Given the description of an element on the screen output the (x, y) to click on. 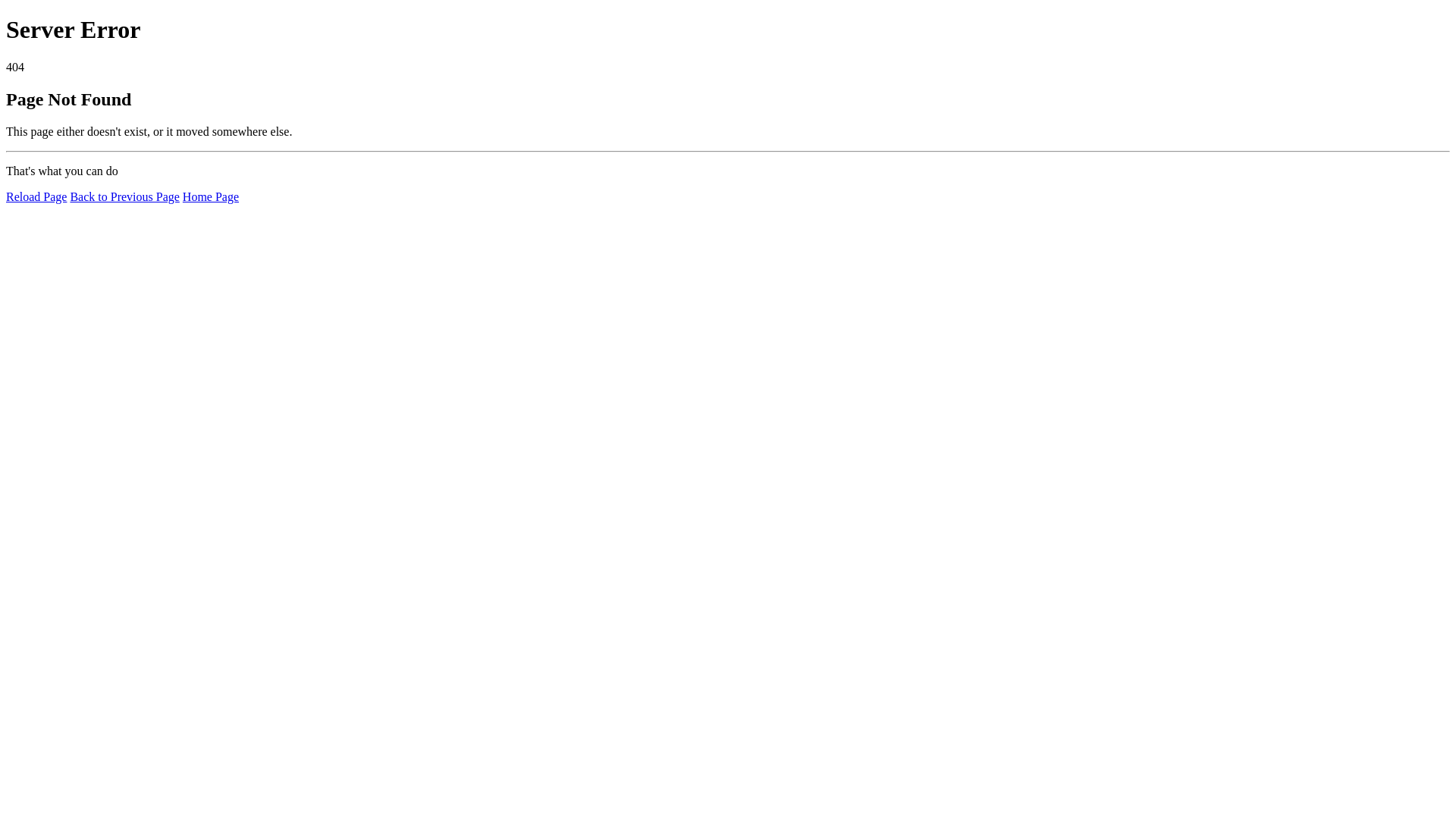
Back to Previous Page Element type: text (123, 196)
Reload Page Element type: text (36, 196)
Home Page Element type: text (210, 196)
